Given the description of an element on the screen output the (x, y) to click on. 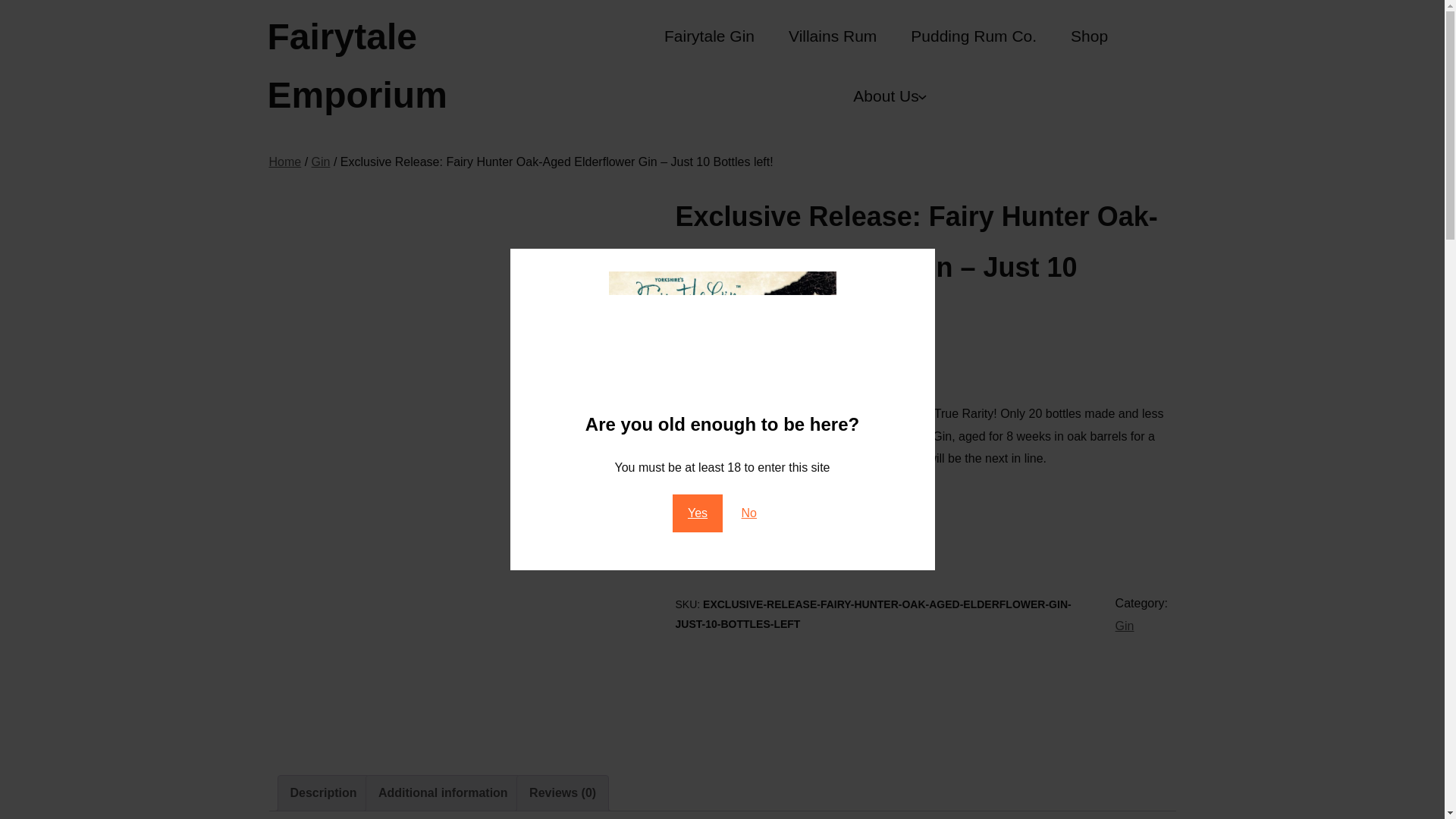
Fairytale Gin (708, 36)
Fairytale Emporium (356, 65)
No (748, 513)
Home (284, 161)
Villains Rum (832, 36)
Yes (697, 513)
Pudding Rum Co. (973, 36)
Shop (1089, 36)
About Us (885, 96)
Gin (1124, 625)
